Given the description of an element on the screen output the (x, y) to click on. 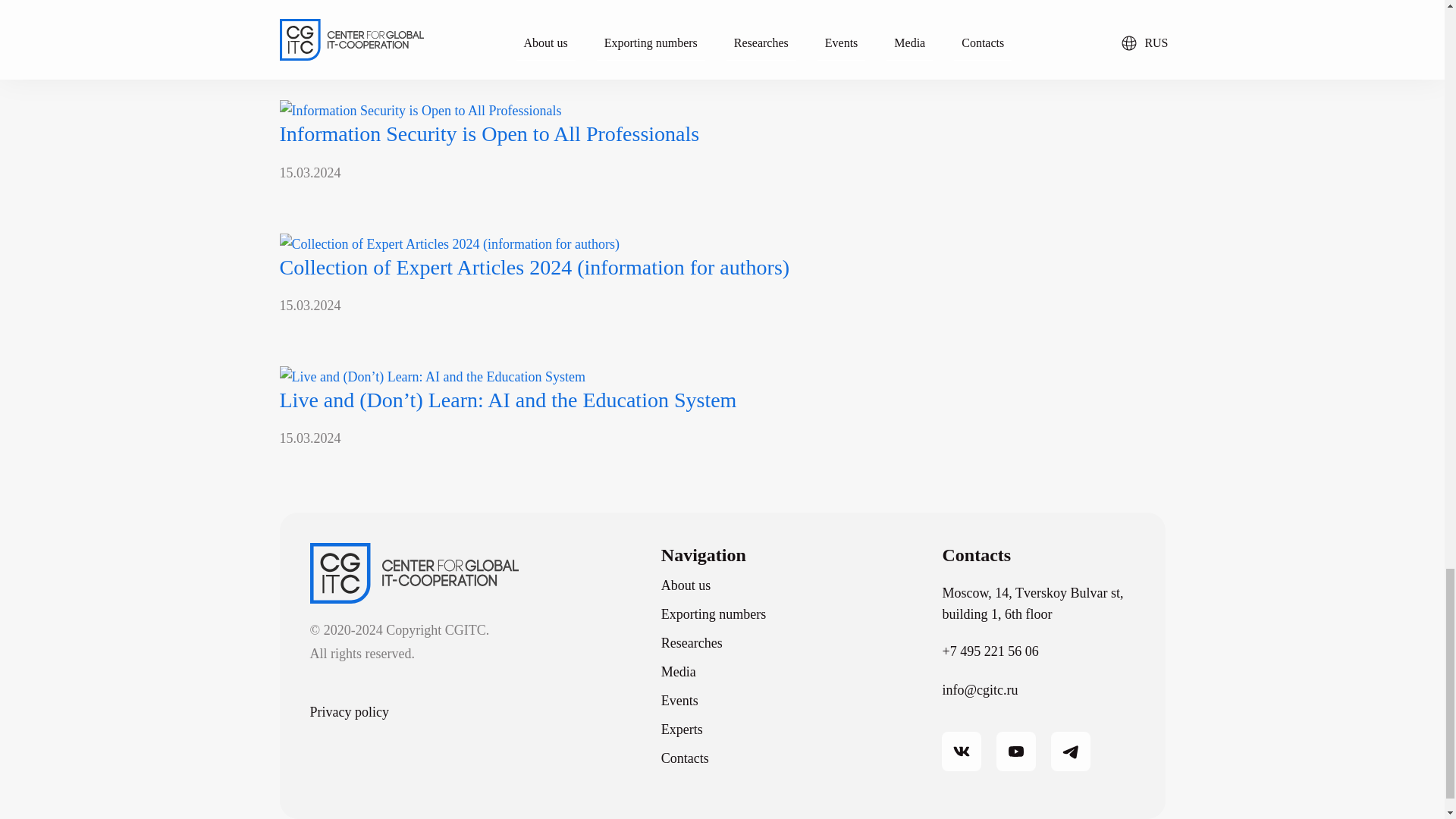
Events (679, 700)
Privacy policy (348, 711)
About us (686, 585)
Media (678, 671)
Researches (691, 642)
Exporting numbers (713, 613)
Experts (682, 729)
Information Security is Open to All Professionals (488, 133)
Contacts (685, 758)
